Given the description of an element on the screen output the (x, y) to click on. 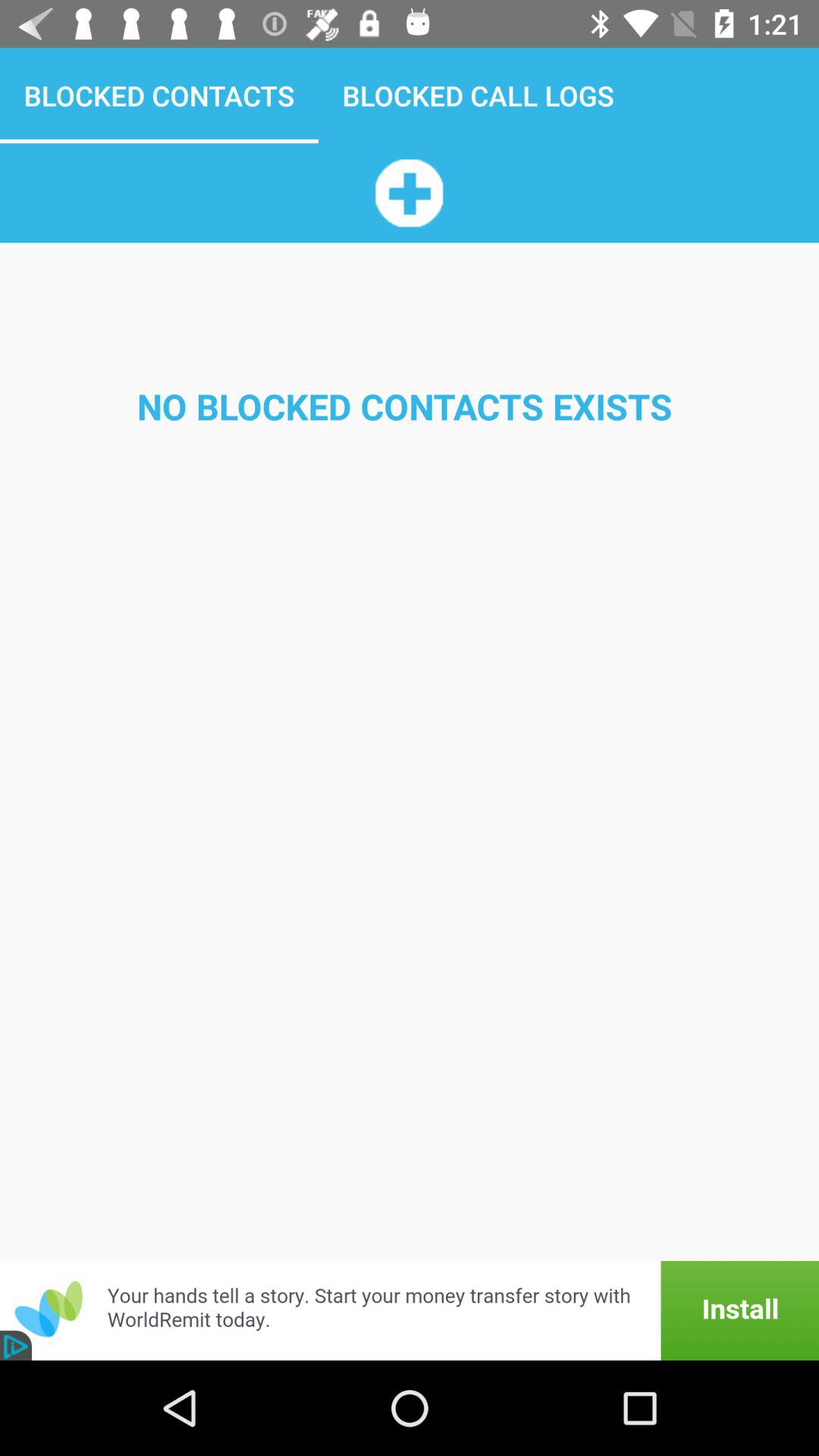
add a blocked contact (409, 193)
